Given the description of an element on the screen output the (x, y) to click on. 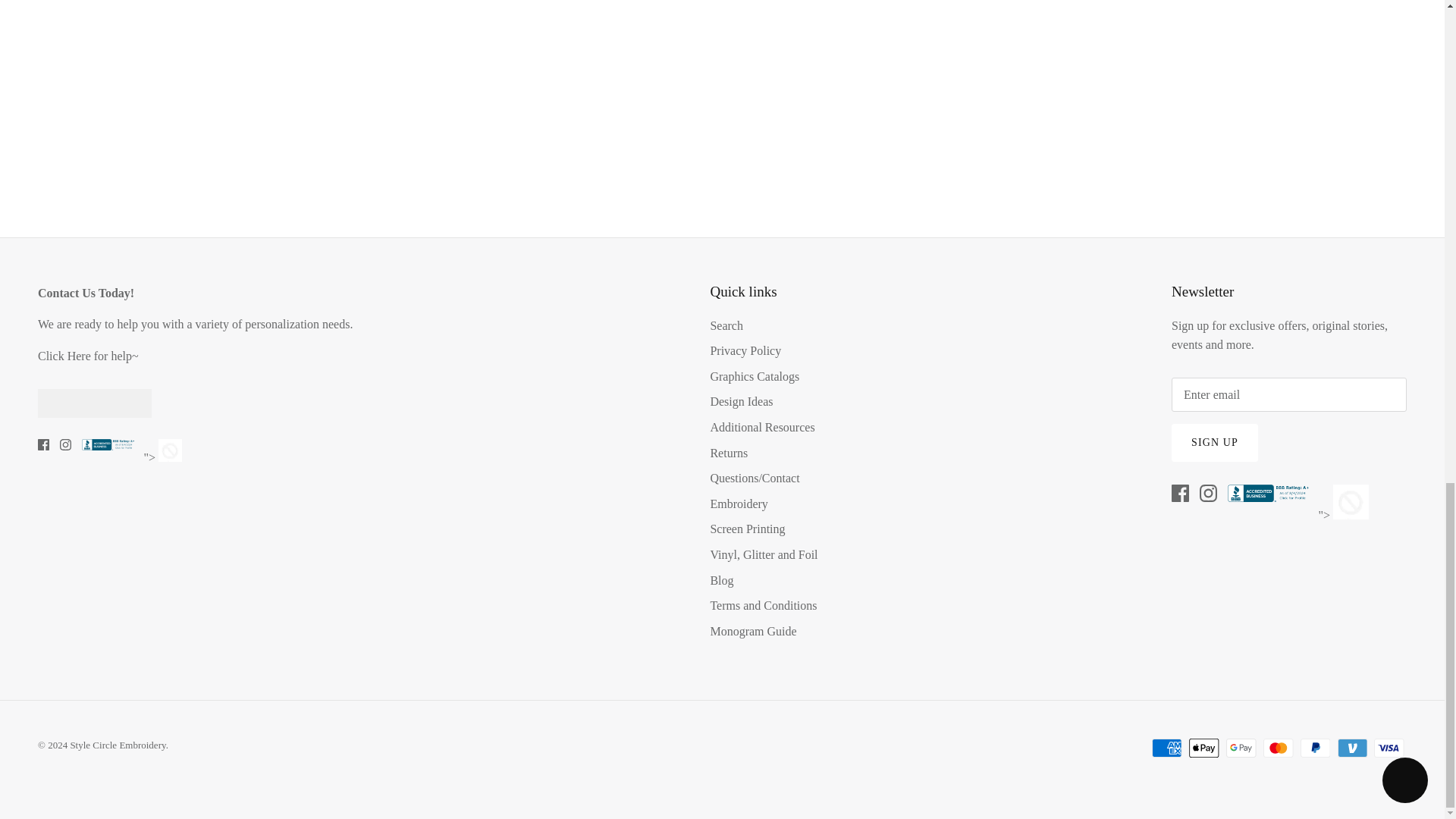
PayPal (1315, 747)
Mastercard (1277, 747)
Google Pay (1240, 747)
Facebook (1180, 493)
American Express (1166, 747)
Visa (1388, 747)
Venmo (1352, 747)
Facebook (43, 444)
Instagram (65, 444)
Apple Pay (1203, 747)
